Given the description of an element on the screen output the (x, y) to click on. 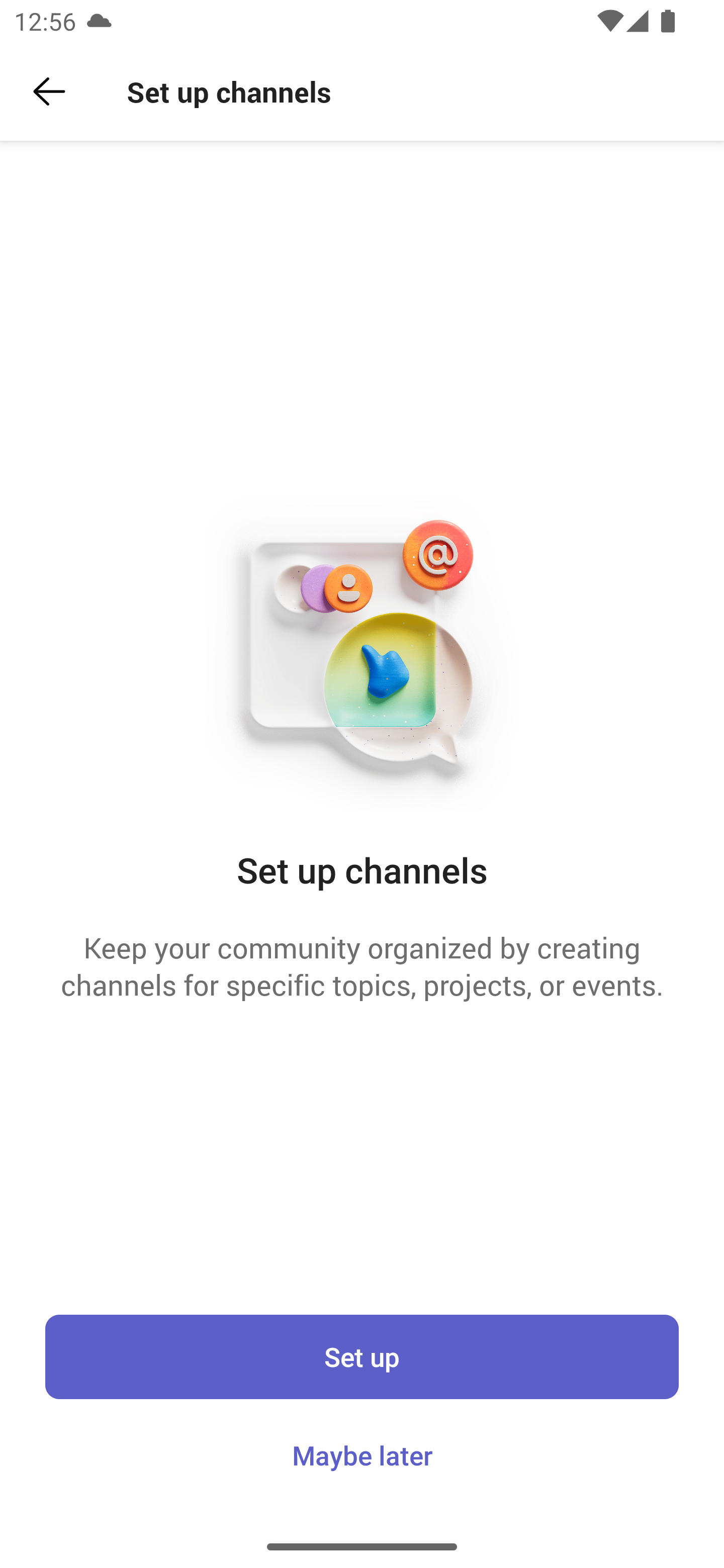
Back (49, 91)
Set up (361, 1355)
Maybe later (361, 1454)
